Given the description of an element on the screen output the (x, y) to click on. 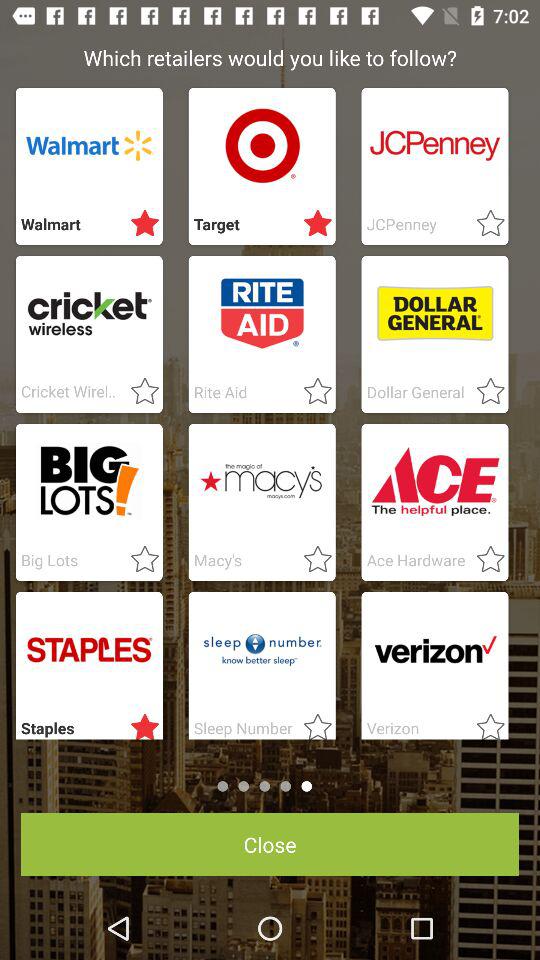
go to rating (312, 560)
